Given the description of an element on the screen output the (x, y) to click on. 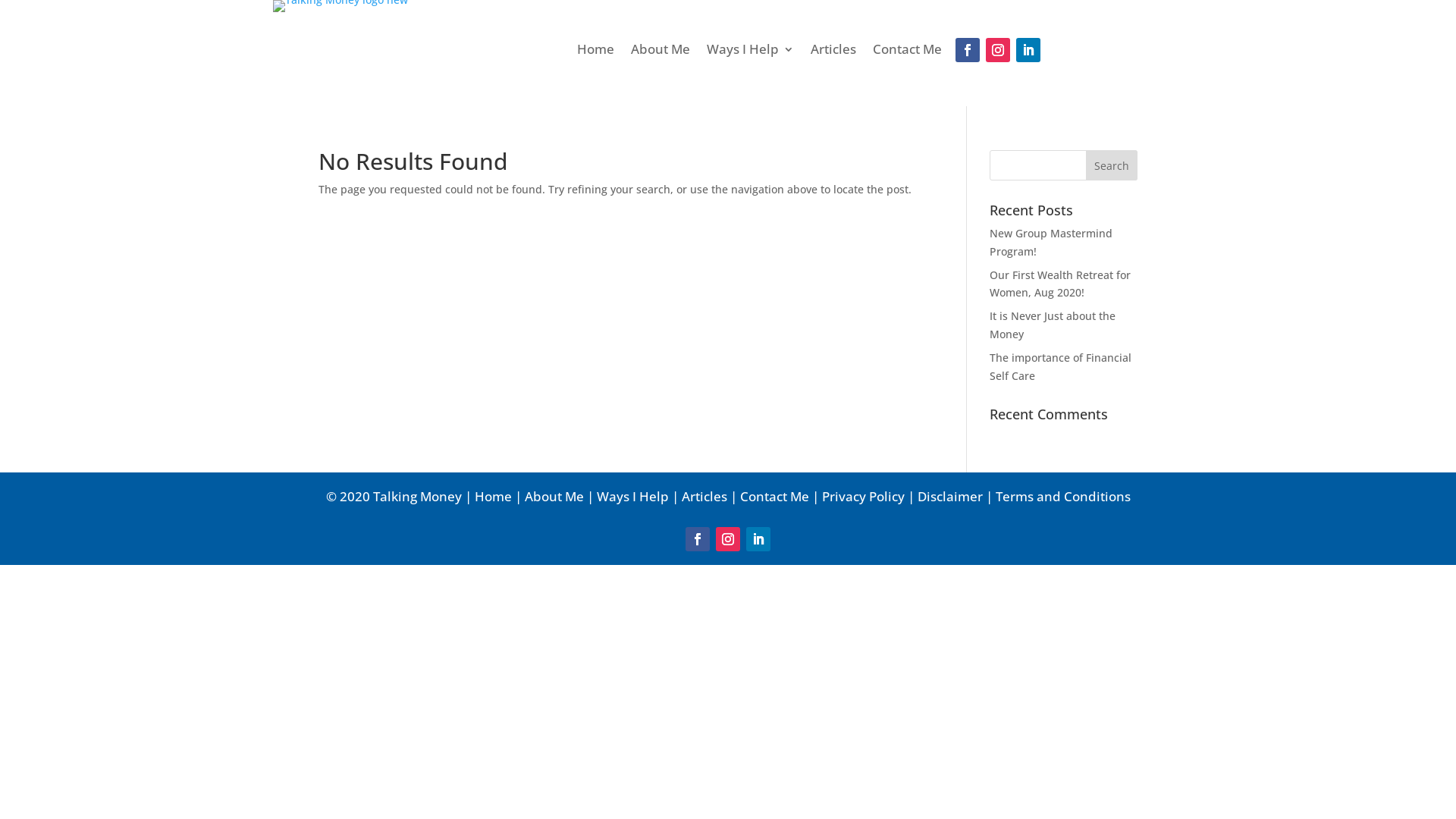
New Group Mastermind Program! Element type: text (1050, 241)
Home Element type: text (595, 51)
Follow on Instagram Element type: hover (727, 539)
Articles Element type: text (833, 51)
Terms and Conditions Element type: text (1061, 496)
The importance of Financial Self Care Element type: text (1060, 366)
Follow on Instagram Element type: hover (997, 49)
Follow on Facebook Element type: hover (697, 539)
Follow on LinkedIn Element type: hover (758, 539)
Ways I Help Element type: text (632, 496)
Home Element type: text (492, 496)
Search Element type: text (1111, 165)
About Me Element type: text (660, 51)
About Me Element type: text (553, 496)
Follow on LinkedIn Element type: hover (1028, 49)
Privacy Policy Element type: text (863, 496)
Our First Wealth Retreat for Women, Aug 2020! Element type: text (1059, 283)
Follow on Facebook Element type: hover (967, 49)
Articles Element type: text (703, 496)
Contact Me Element type: text (906, 51)
It is Never Just about the Money Element type: text (1052, 324)
Talking Money logo new Element type: hover (340, 6)
Contact Me Element type: text (774, 496)
Ways I Help Element type: text (749, 51)
Disclaimer Element type: text (949, 496)
